Given the description of an element on the screen output the (x, y) to click on. 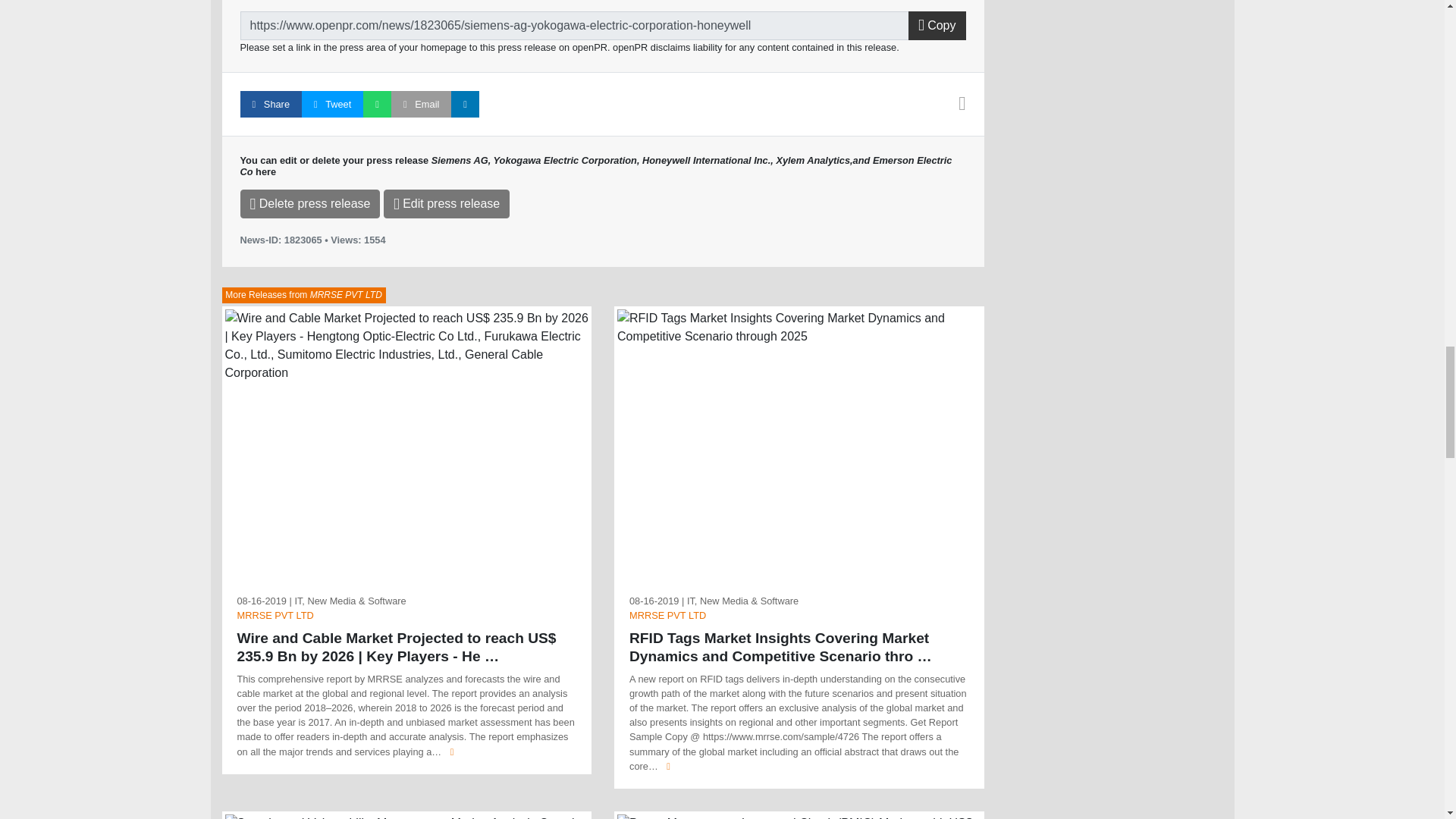
Permalink (574, 25)
LinkedIn (465, 103)
WhatsApp (376, 103)
Email (421, 103)
Facebook (270, 103)
